Given the description of an element on the screen output the (x, y) to click on. 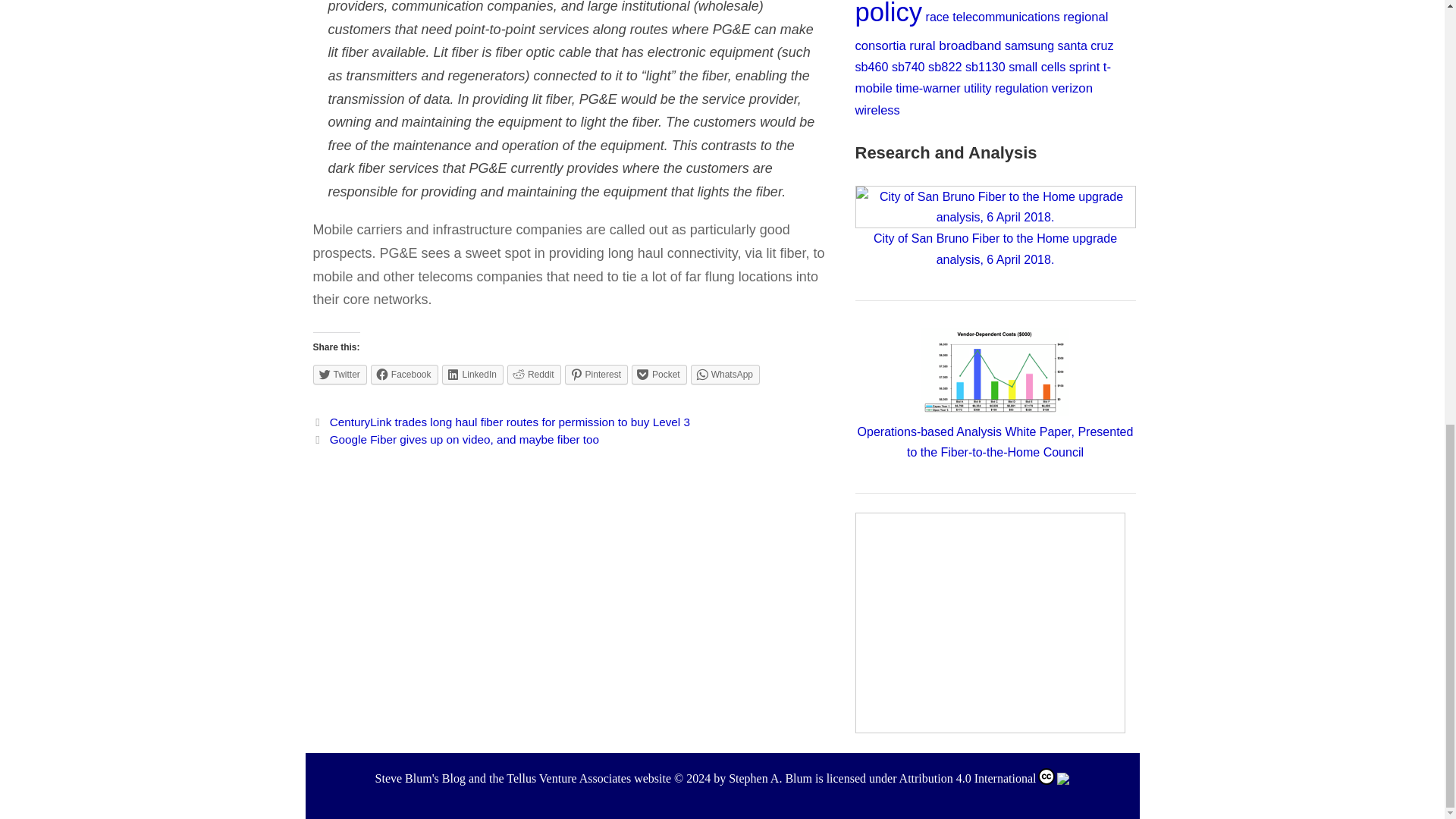
Click to share on WhatsApp (725, 374)
Previous (500, 421)
Click to share on Twitter (339, 374)
Click to share on LinkedIn (472, 374)
Click to share on Facebook (404, 374)
Next (455, 439)
Click to share on Pinterest (595, 374)
Click to share on Pocket (659, 374)
Click to share on Reddit (533, 374)
